Given the description of an element on the screen output the (x, y) to click on. 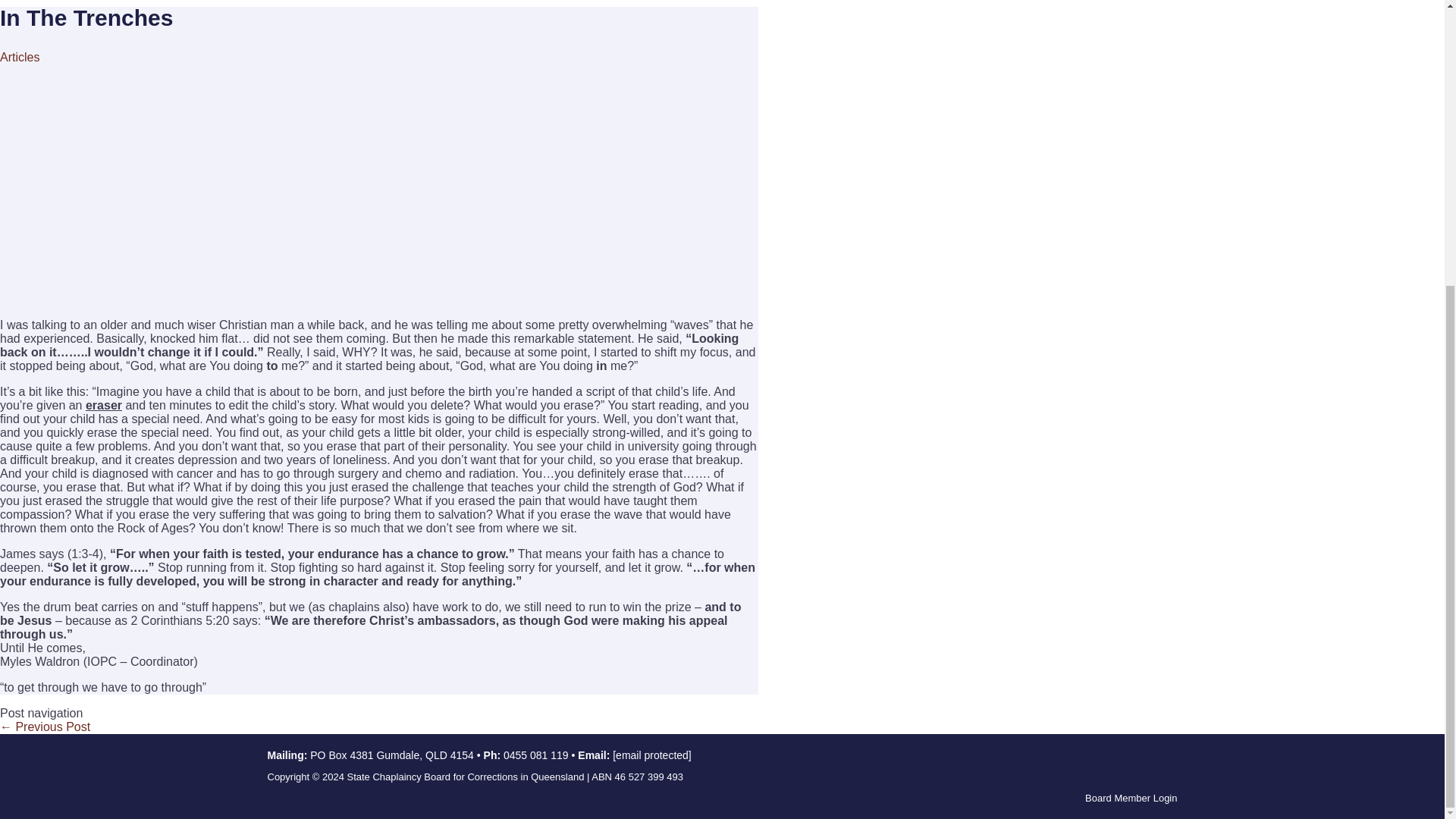
Articles (19, 56)
0455 081 119 (536, 755)
Board Member Login (1130, 797)
